Given the description of an element on the screen output the (x, y) to click on. 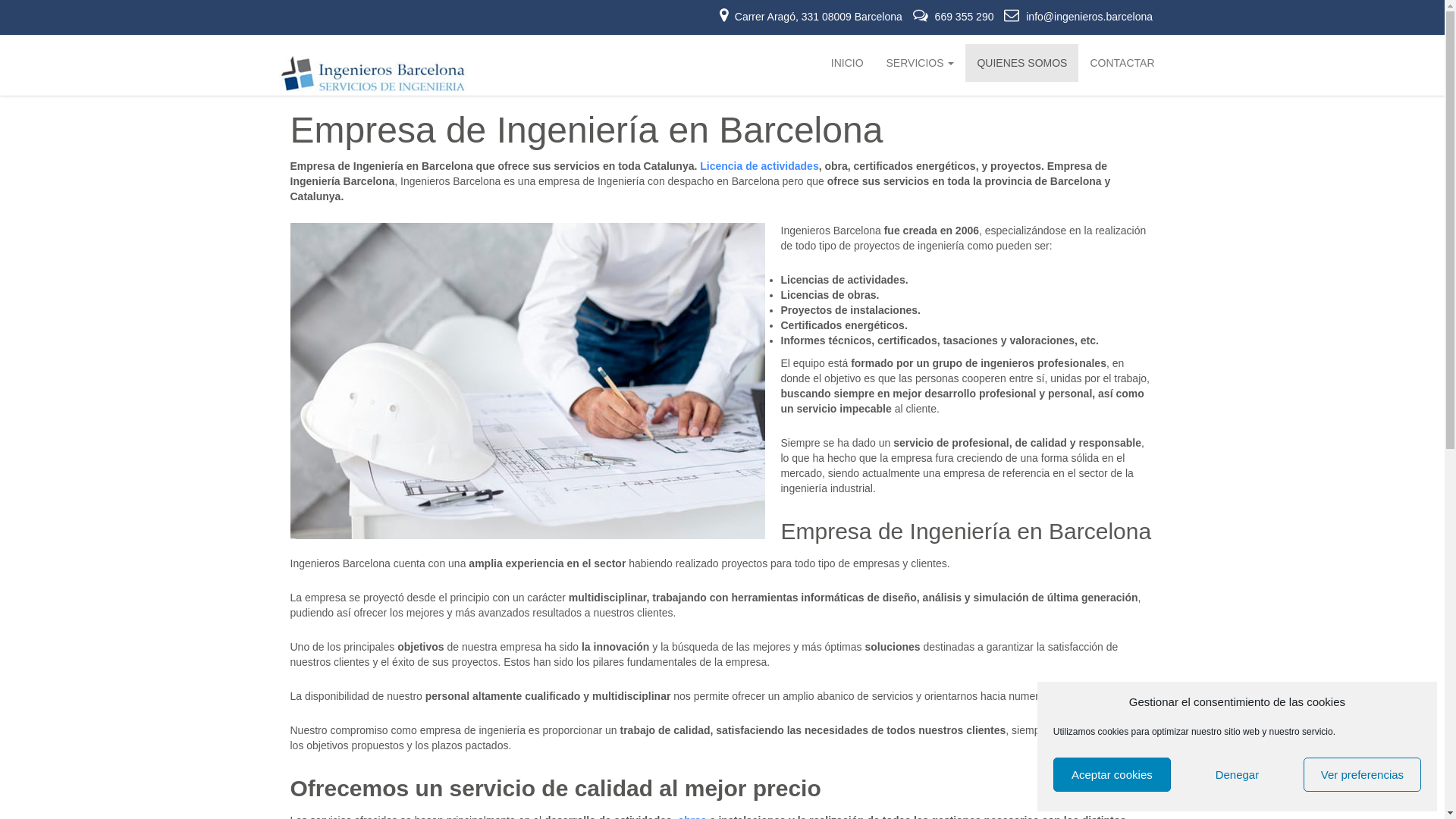
Licencia de actividades Element type: text (758, 166)
Ver preferencias Element type: text (1362, 774)
QUIENES SOMOS Element type: text (1021, 62)
Aceptar cookies Element type: text (1111, 774)
669 355 290 Element type: text (955, 16)
info@ingenieros.barcelona Element type: text (1078, 16)
Denegar Element type: text (1236, 774)
INICIO Element type: text (847, 62)
CONTACTAR Element type: text (1121, 62)
SERVICIOS Element type: text (920, 62)
